Given the description of an element on the screen output the (x, y) to click on. 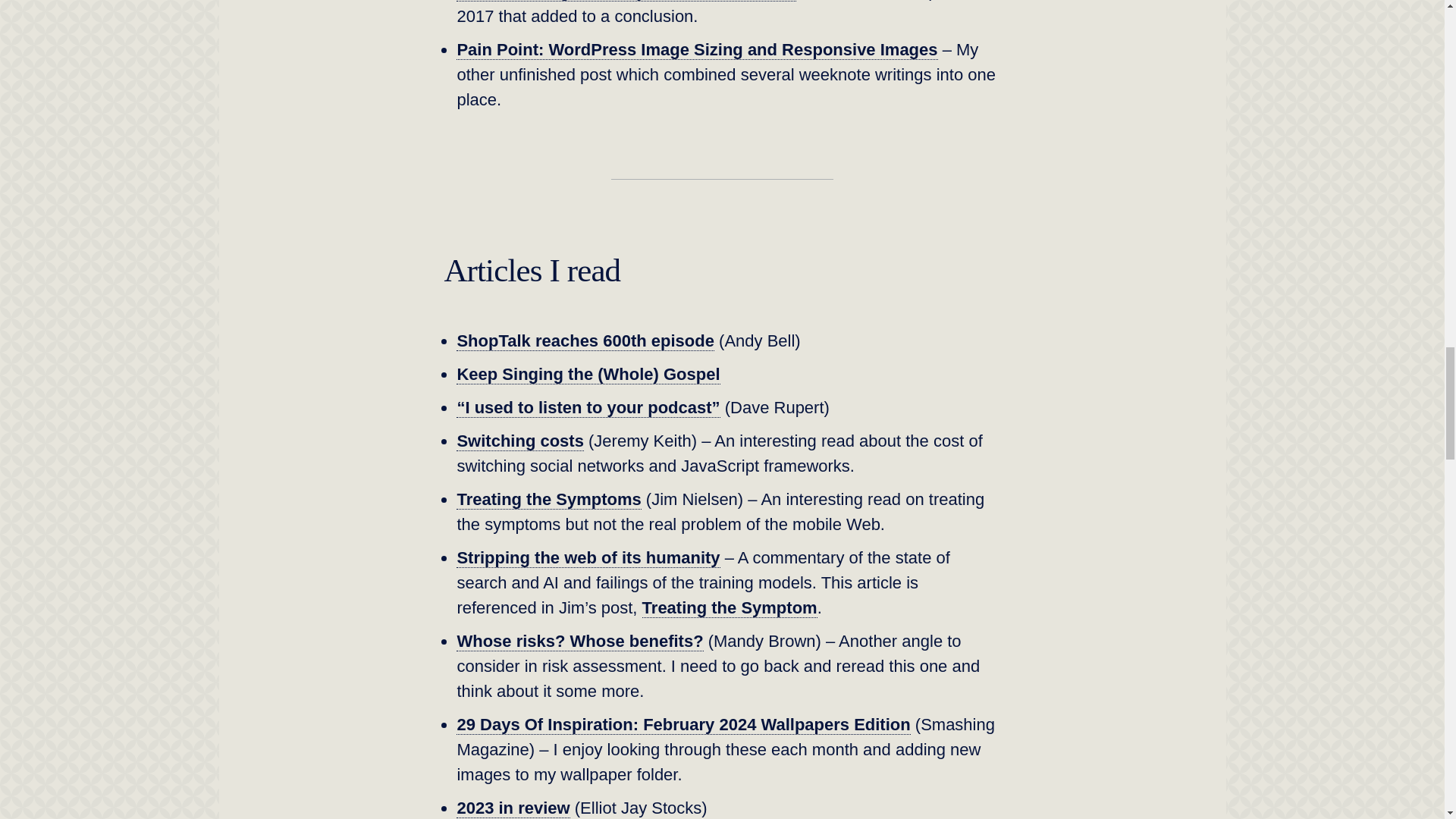
29 Days Of Inspiration: February 2024 Wallpapers Edition (683, 724)
Whose risks? Whose benefits? (580, 641)
Switching costs (520, 441)
Stripping the web of its humanity (588, 557)
Pain Point: WordPress Image Sizing and Responsive Images (697, 49)
ShopTalk reaches 600th episode (585, 341)
Treating the Symptoms (548, 499)
2023 in review (513, 808)
Treating the Symptom (729, 608)
